Given the description of an element on the screen output the (x, y) to click on. 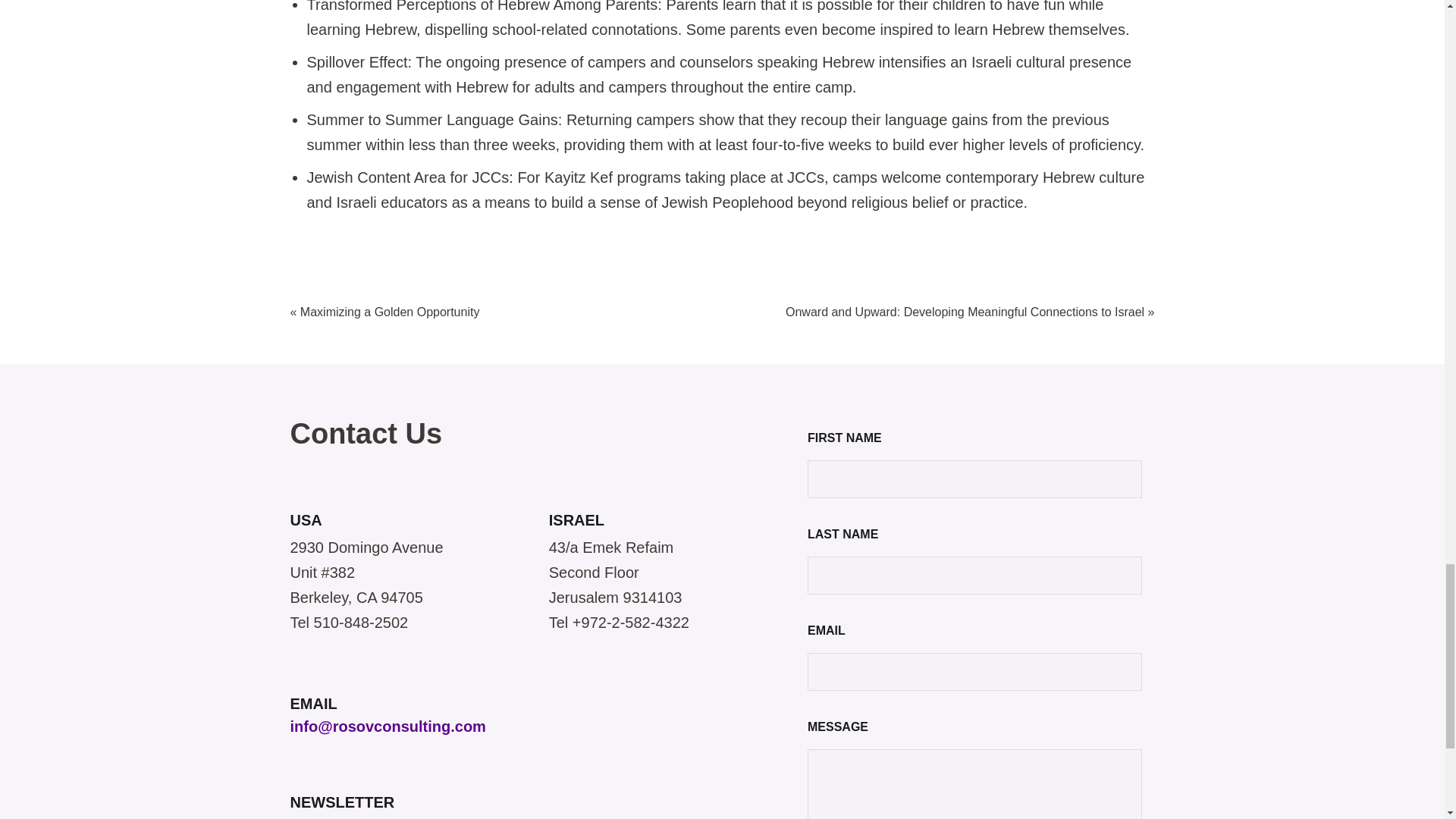
Maximizing a Golden Opportunity (389, 311)
